Given the description of an element on the screen output the (x, y) to click on. 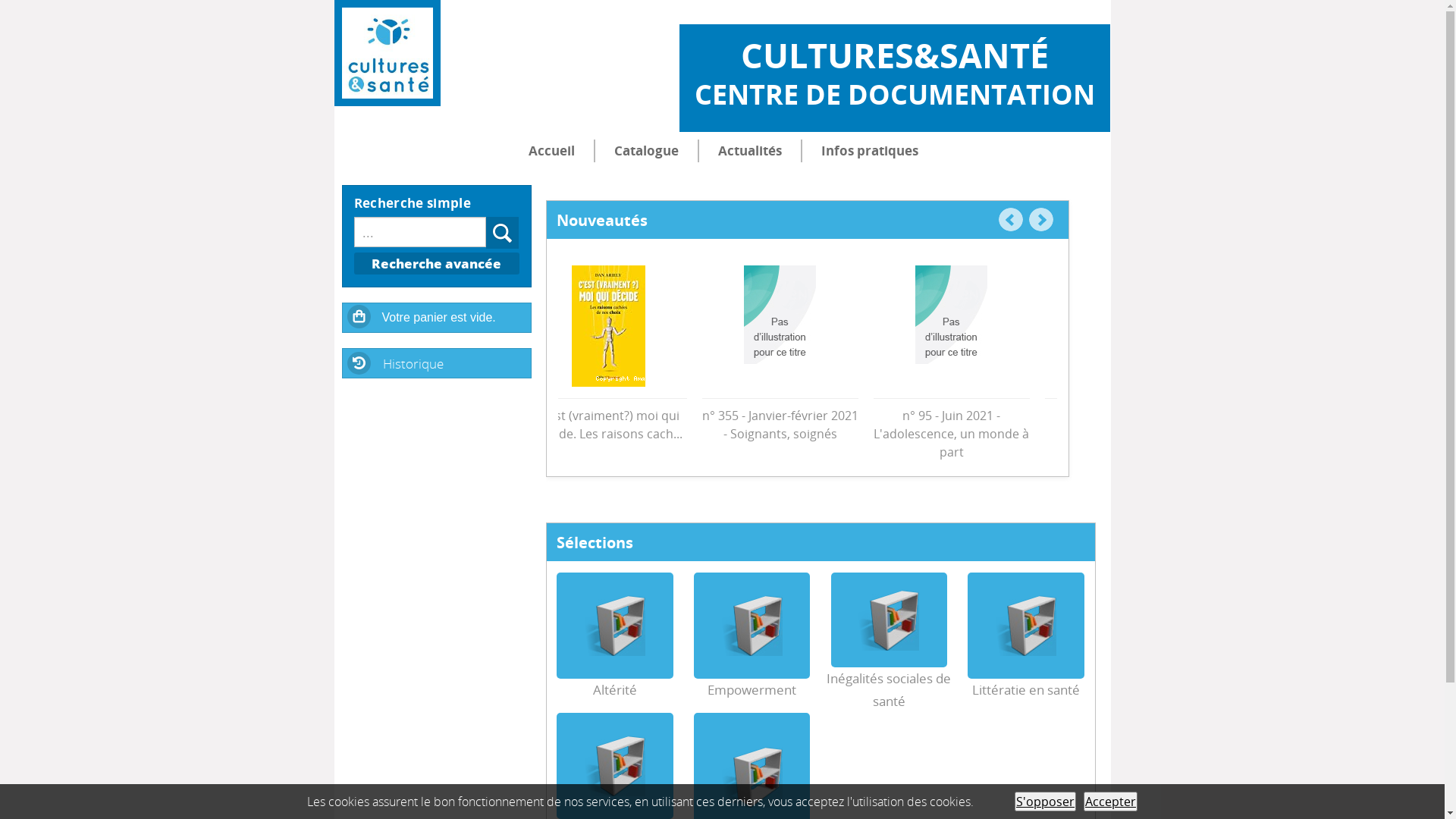
Empowerment Element type: text (751, 695)
Accueil Element type: text (551, 150)
Catalogue Element type: text (645, 150)
Infos pratiques Element type: text (869, 150)
Historique Element type: text (436, 361)
Prev Element type: text (1009, 219)
Accepter Element type: text (1110, 801)
Qui dort dehors? Element type: hover (635, 325)
Suivant Element type: text (1040, 219)
Empowerment Element type: hover (751, 625)
S'opposer Element type: text (1045, 801)
Qui dort dehors? Element type: text (636, 411)
Rechercher Element type: text (502, 232)
